Given the description of an element on the screen output the (x, y) to click on. 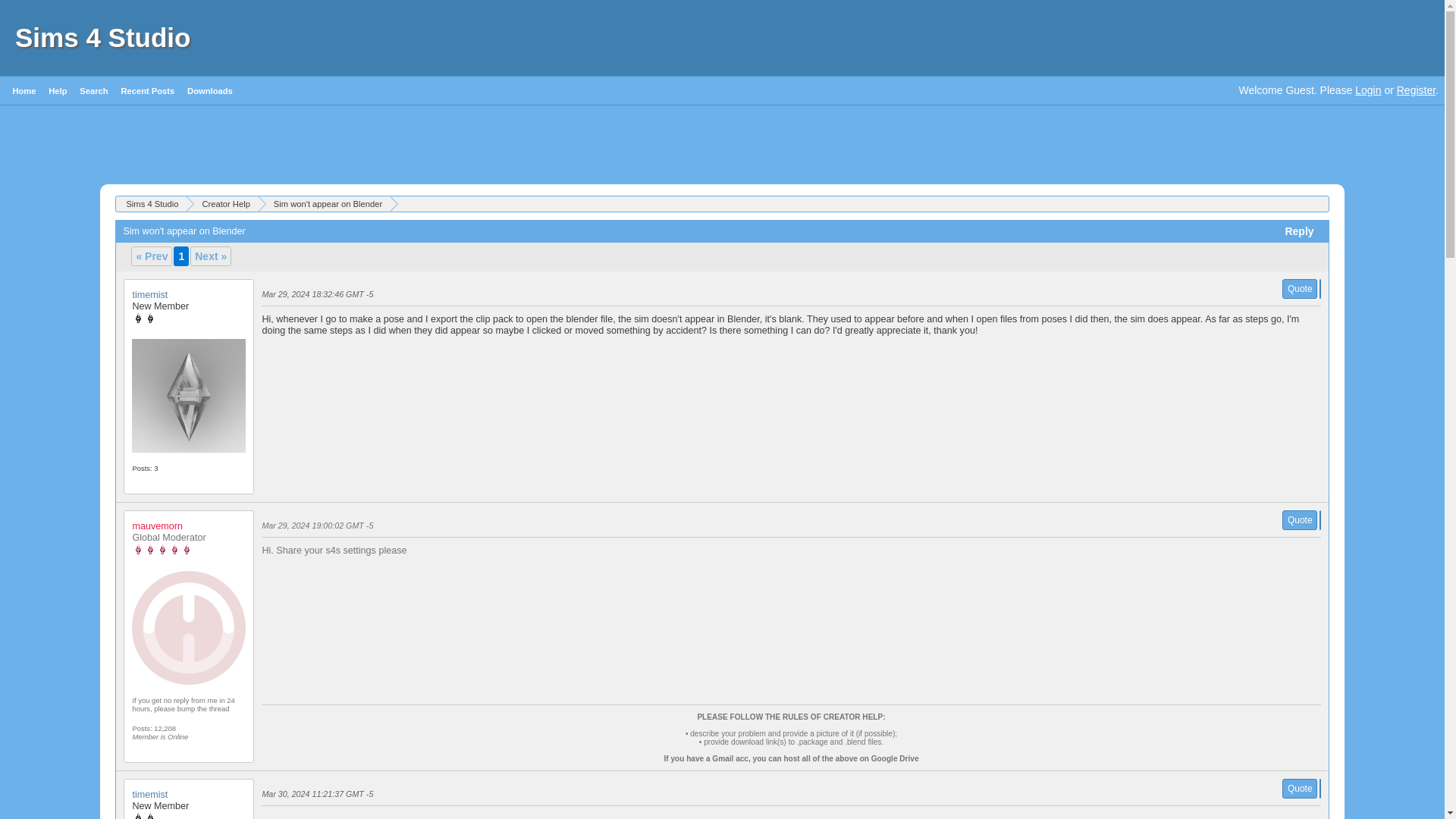
Login (1367, 90)
Creator Help (223, 203)
Sims 4 Studio (150, 203)
Recent Posts (147, 91)
Help (58, 91)
Mar 29, 2024 18:32:46 GMT -5 (317, 293)
Register (1415, 90)
Sims 4 Studio (102, 37)
